Given the description of an element on the screen output the (x, y) to click on. 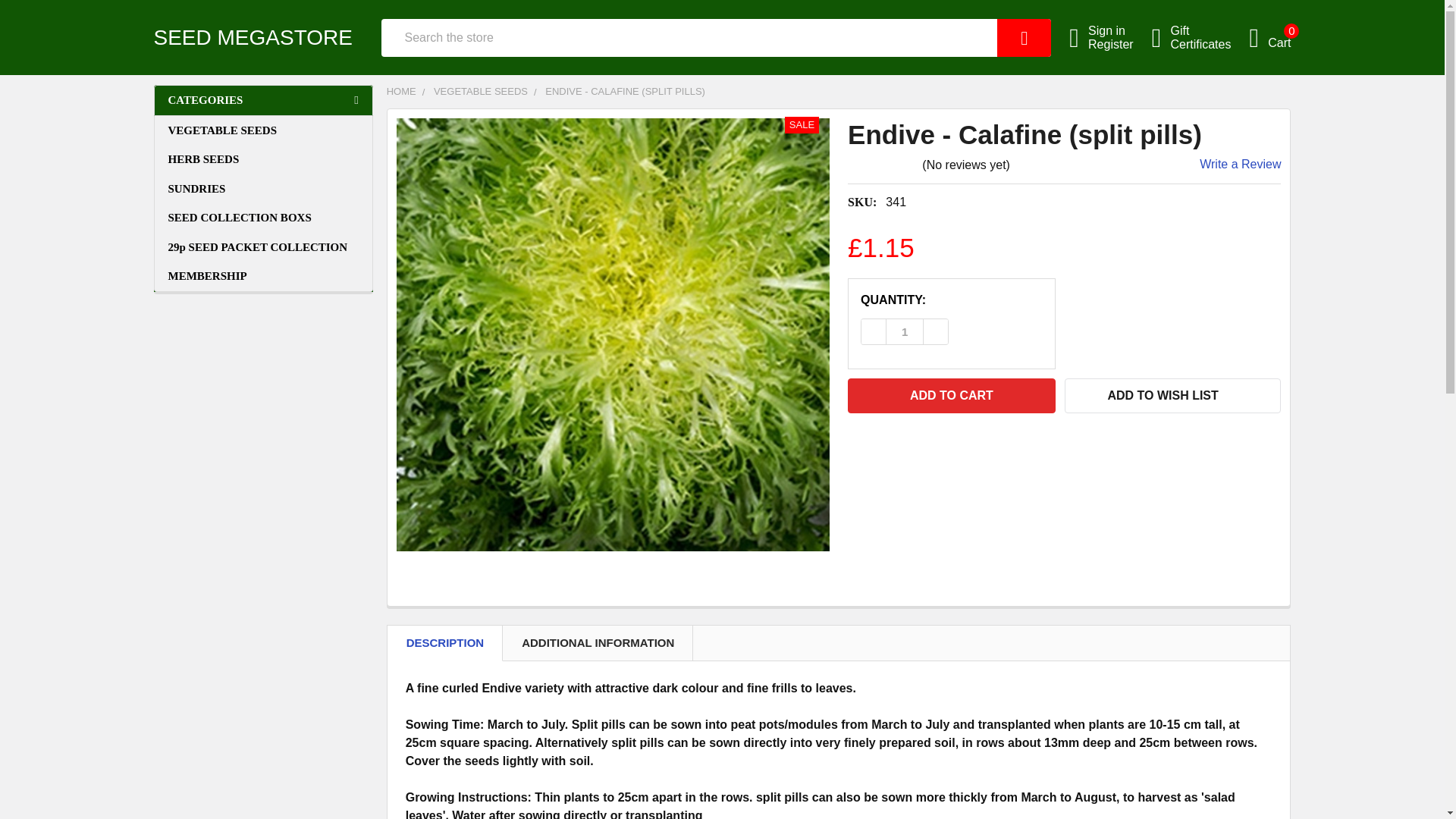
Cart (1269, 37)
Search (1028, 37)
Sign in (1119, 30)
Register (1119, 44)
Add to Cart (1269, 37)
Search (951, 395)
1 (1200, 38)
SEED MEGASTORE (1028, 37)
